Given the description of an element on the screen output the (x, y) to click on. 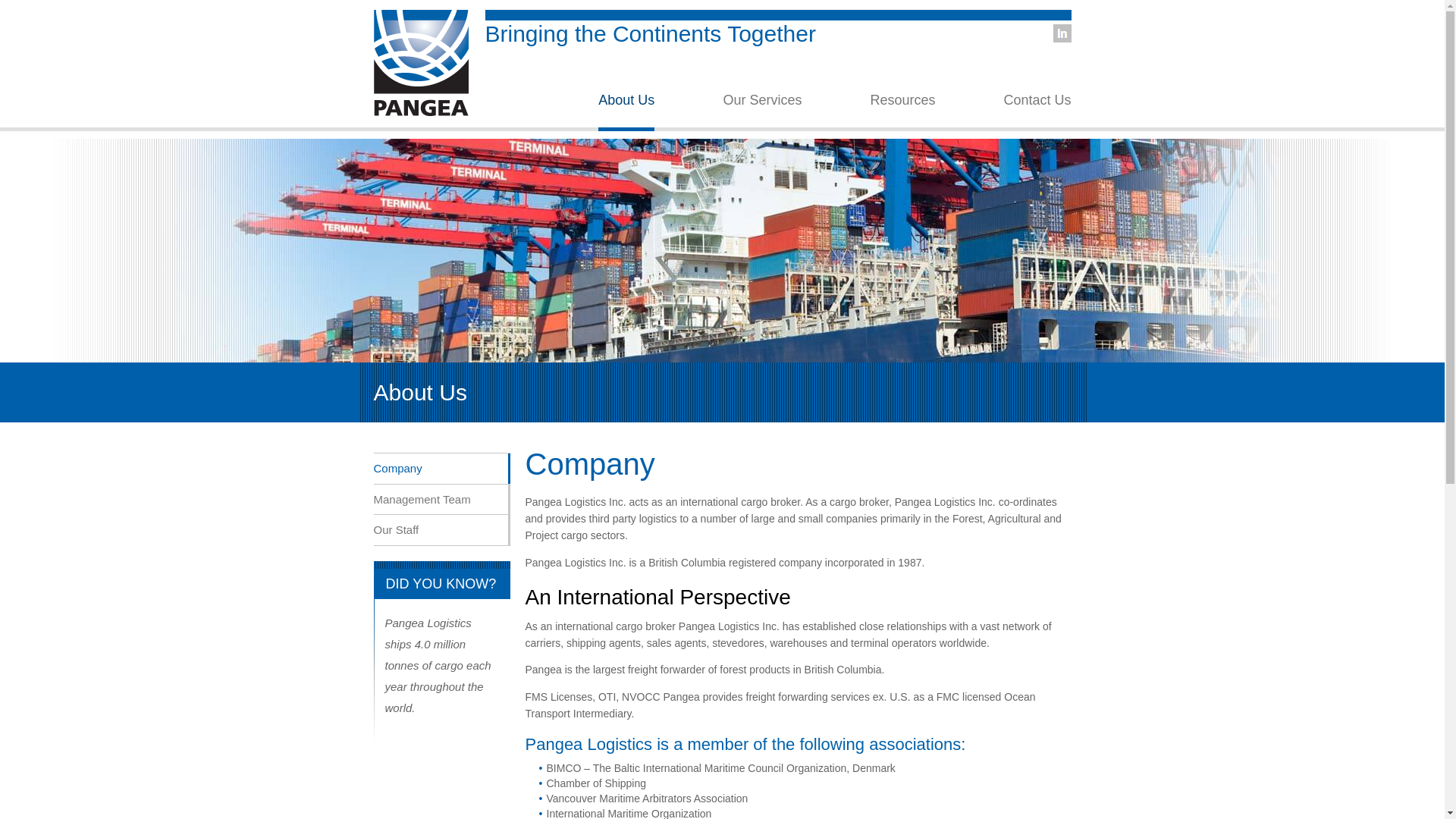
Our Staff (440, 530)
Contact Us (1036, 112)
Resources (901, 112)
Company (440, 468)
About Us (625, 112)
Our Services (762, 112)
Management Team (440, 499)
LinkedIn (1061, 33)
